Given the description of an element on the screen output the (x, y) to click on. 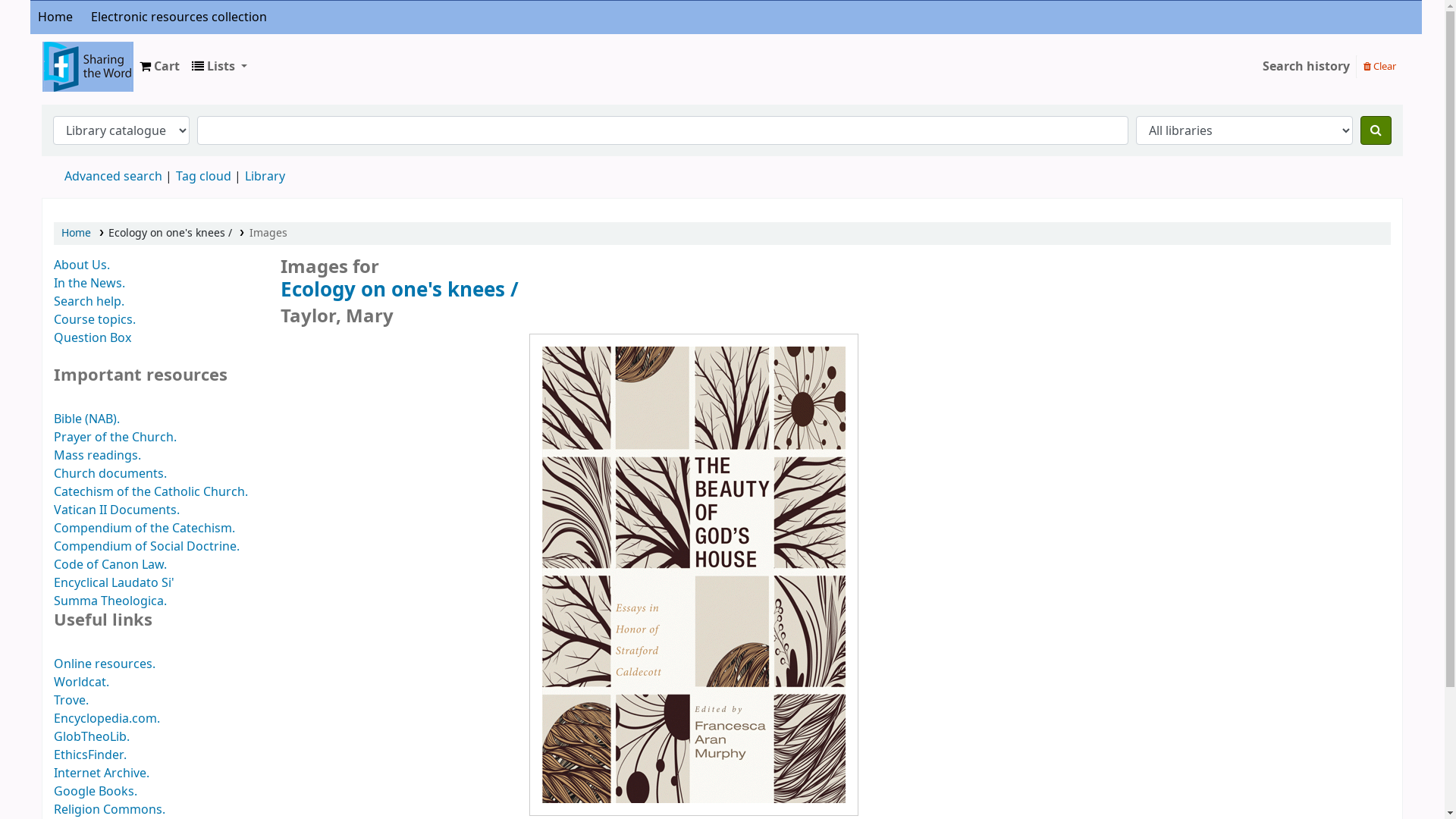
Church documents. Element type: text (109, 473)
Clear Element type: text (1379, 65)
Sharing the Word Element type: text (80, 55)
GlobTheoLib. Element type: text (91, 737)
Home Element type: text (76, 233)
Search Element type: hover (1375, 130)
Worldcat. Element type: text (81, 682)
Google Books. Element type: text (95, 791)
Bible (NAB). Element type: text (86, 419)
Question Box Element type: text (92, 338)
Tag cloud Element type: text (203, 176)
Code of Canon Law. Element type: text (109, 564)
Images Element type: text (268, 233)
Mass readings. Element type: text (97, 455)
Advanced search Element type: text (113, 176)
Course topics. Element type: text (94, 319)
Prayer of the Church. Element type: text (114, 437)
Catechism of the Catholic Church. Element type: text (150, 492)
Online resources. Element type: text (104, 664)
In the News. Element type: text (89, 283)
Encyclopedia.com. Element type: text (106, 718)
Trove. Element type: text (70, 700)
Library Element type: text (264, 176)
Cart Element type: text (159, 66)
Lists Element type: text (219, 66)
About Us. Element type: text (81, 265)
Summa Theologica. Element type: text (109, 601)
Search help. Element type: text (88, 301)
Compendium of the Catechism. Element type: text (144, 528)
Compendium of Social Doctrine. Element type: text (146, 546)
Vatican II Documents. Element type: text (116, 510)
EthicsFinder. Element type: text (89, 755)
Internet Archive. Element type: text (101, 773)
Encyclical Laudato Si' Element type: text (113, 583)
Search history Element type: text (1305, 66)
Ecology on one's knees / Element type: text (693, 289)
Home Element type: text (54, 17)
Electronic resources collection Element type: text (178, 17)
